Given the description of an element on the screen output the (x, y) to click on. 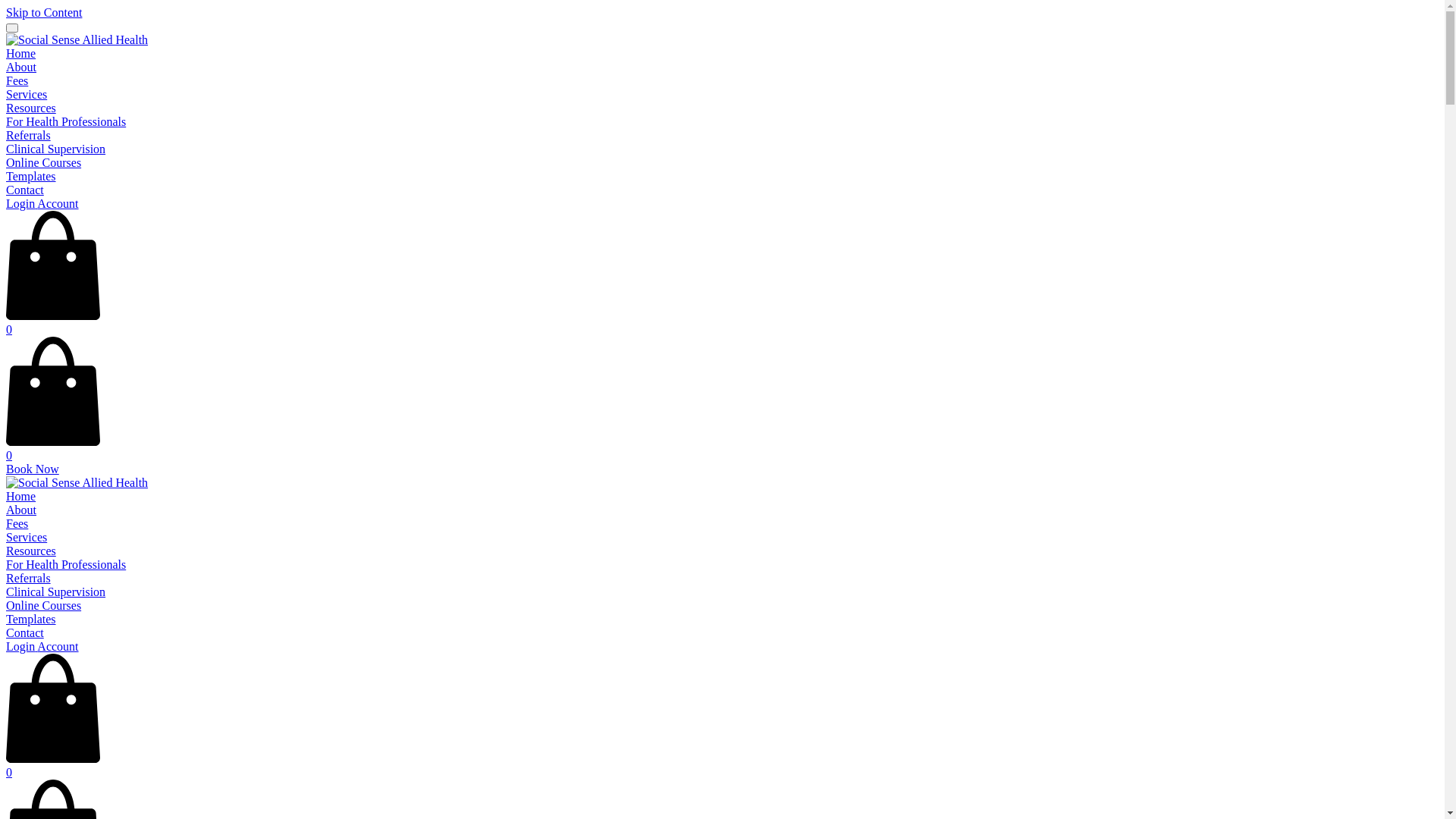
About Element type: text (21, 66)
Fees Element type: text (17, 523)
Login Account Element type: text (42, 646)
Skip to Content Element type: text (43, 12)
Resources Element type: text (31, 107)
Home Element type: text (20, 495)
Resources Element type: text (31, 550)
Book Now Element type: text (32, 468)
For Health Professionals Element type: text (65, 564)
Online Courses Element type: text (43, 605)
About Element type: text (21, 509)
For Health Professionals Element type: text (65, 121)
Home Element type: text (20, 53)
Contact Element type: text (24, 189)
Templates Element type: text (31, 618)
Templates Element type: text (31, 175)
Services Element type: text (26, 536)
Login Account Element type: text (42, 203)
Referrals Element type: text (28, 577)
Referrals Element type: text (28, 134)
Contact Element type: text (24, 632)
0 Element type: text (722, 765)
Services Element type: text (26, 93)
Clinical Supervision Element type: text (55, 148)
Online Courses Element type: text (43, 162)
0 Element type: text (722, 322)
Clinical Supervision Element type: text (55, 591)
Fees Element type: text (17, 80)
0 Element type: text (722, 448)
